Given the description of an element on the screen output the (x, y) to click on. 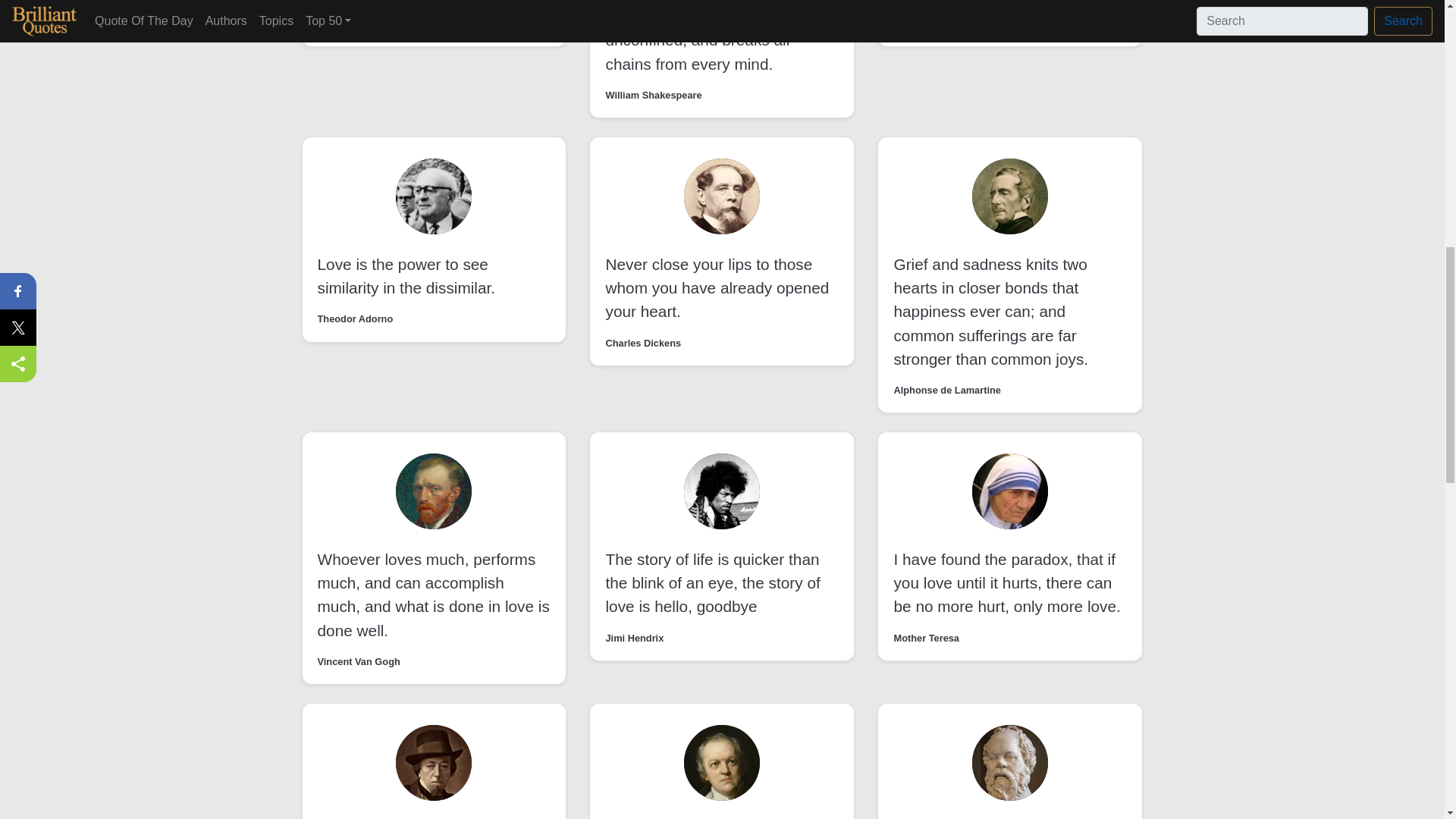
William Shakespeare (653, 94)
Vincent Van Gogh (357, 661)
Sigmund Freud (928, 23)
Mother Teresa (926, 637)
Alphonse de Lamartine (947, 390)
Charles Dickens (643, 342)
Jimi Hendrix (634, 637)
Theodor Adorno (355, 318)
Anton Chekhov (352, 23)
Love is the power to see similarity in the dissimilar. (406, 275)
